Given the description of an element on the screen output the (x, y) to click on. 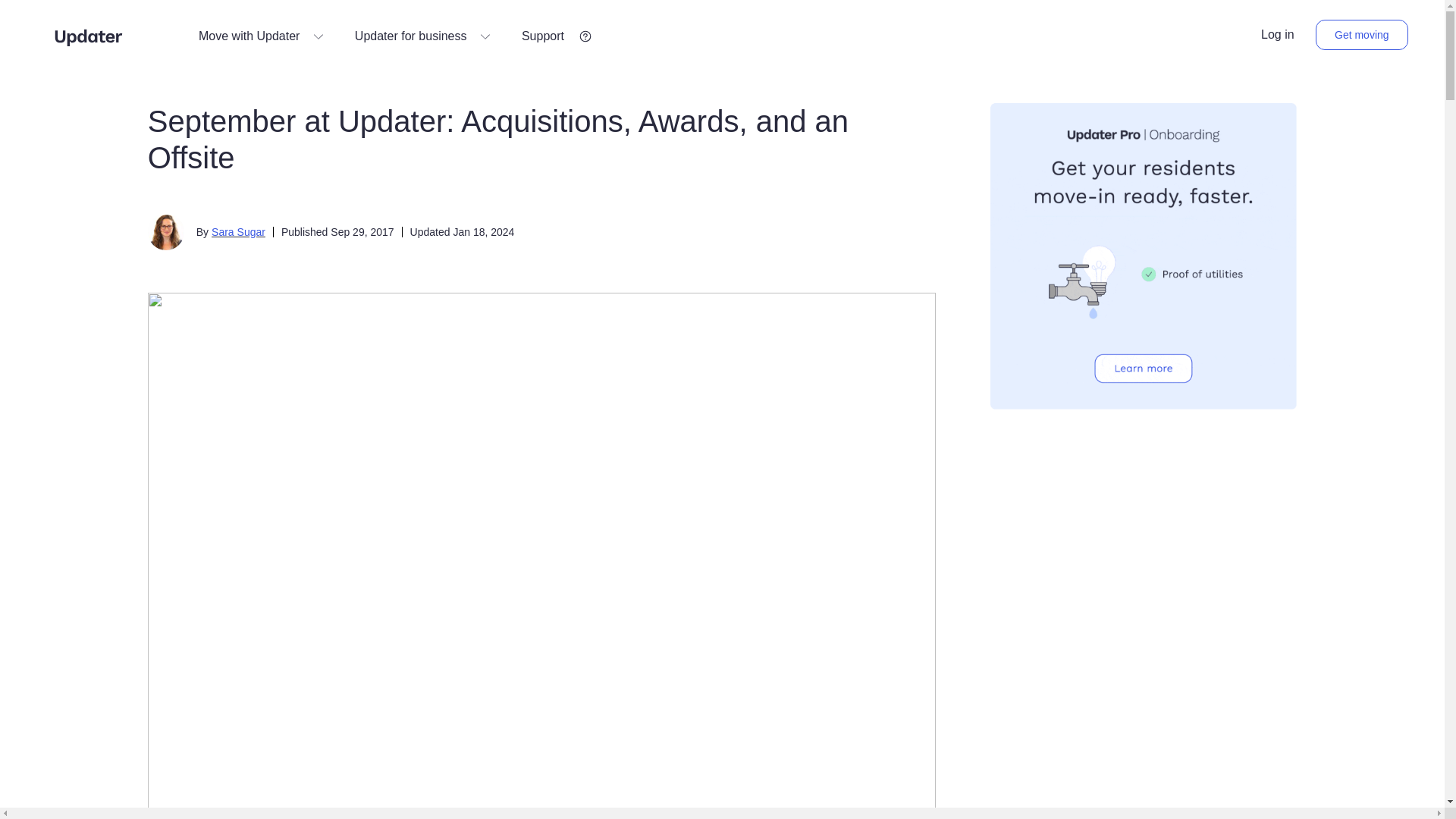
Updater (88, 36)
Move with Updater (261, 36)
Support (554, 35)
Get moving (1361, 34)
Log in (1277, 34)
Updater for business (422, 36)
